Given the description of an element on the screen output the (x, y) to click on. 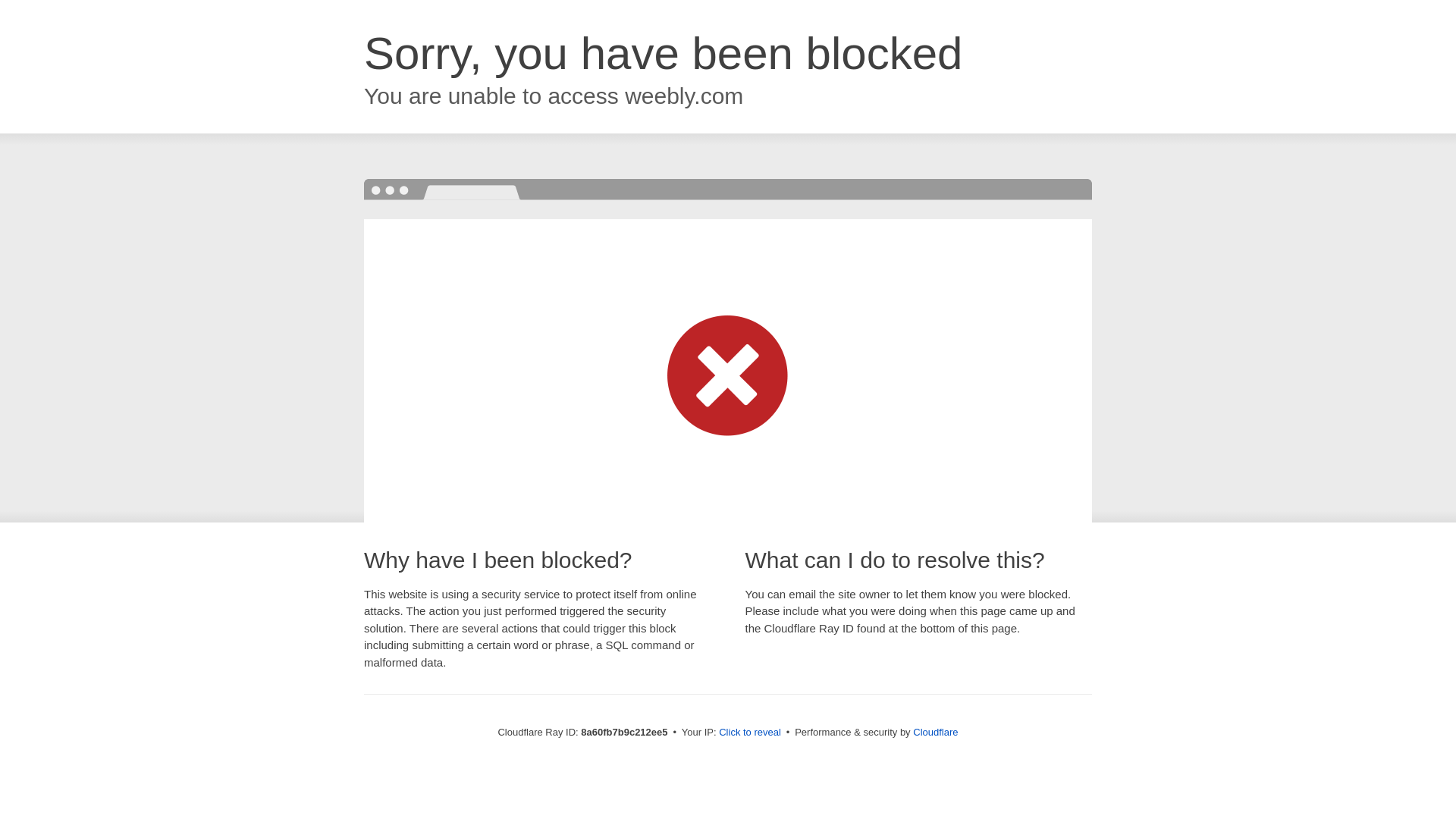
Click to reveal (749, 732)
Cloudflare (935, 731)
